Given the description of an element on the screen output the (x, y) to click on. 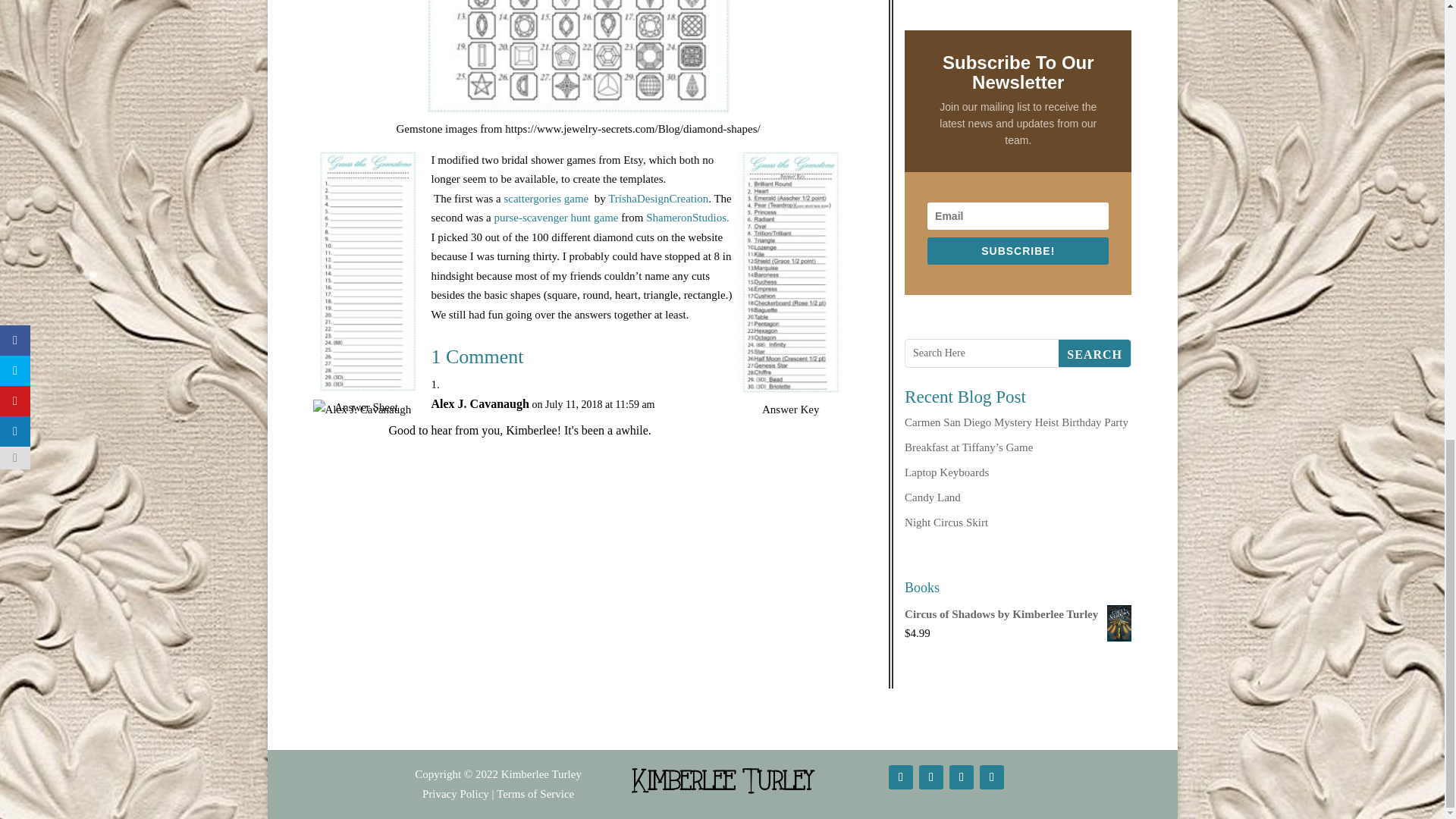
Search (1094, 352)
Search (1094, 352)
Night Circus Skirt (946, 522)
scattergories game (547, 198)
Follow on Facebook (900, 776)
TrishaDesignCreation (657, 198)
Follow on TikTok (961, 776)
Follow on Goodreads (991, 776)
Search (1094, 352)
Kimberlee Turley (540, 774)
Candy Land (932, 497)
Logo (721, 780)
Privacy Policy (455, 793)
Carmen San Diego Mystery Heist Birthday Party (1016, 422)
Alex J. Cavanaugh (479, 403)
